Given the description of an element on the screen output the (x, y) to click on. 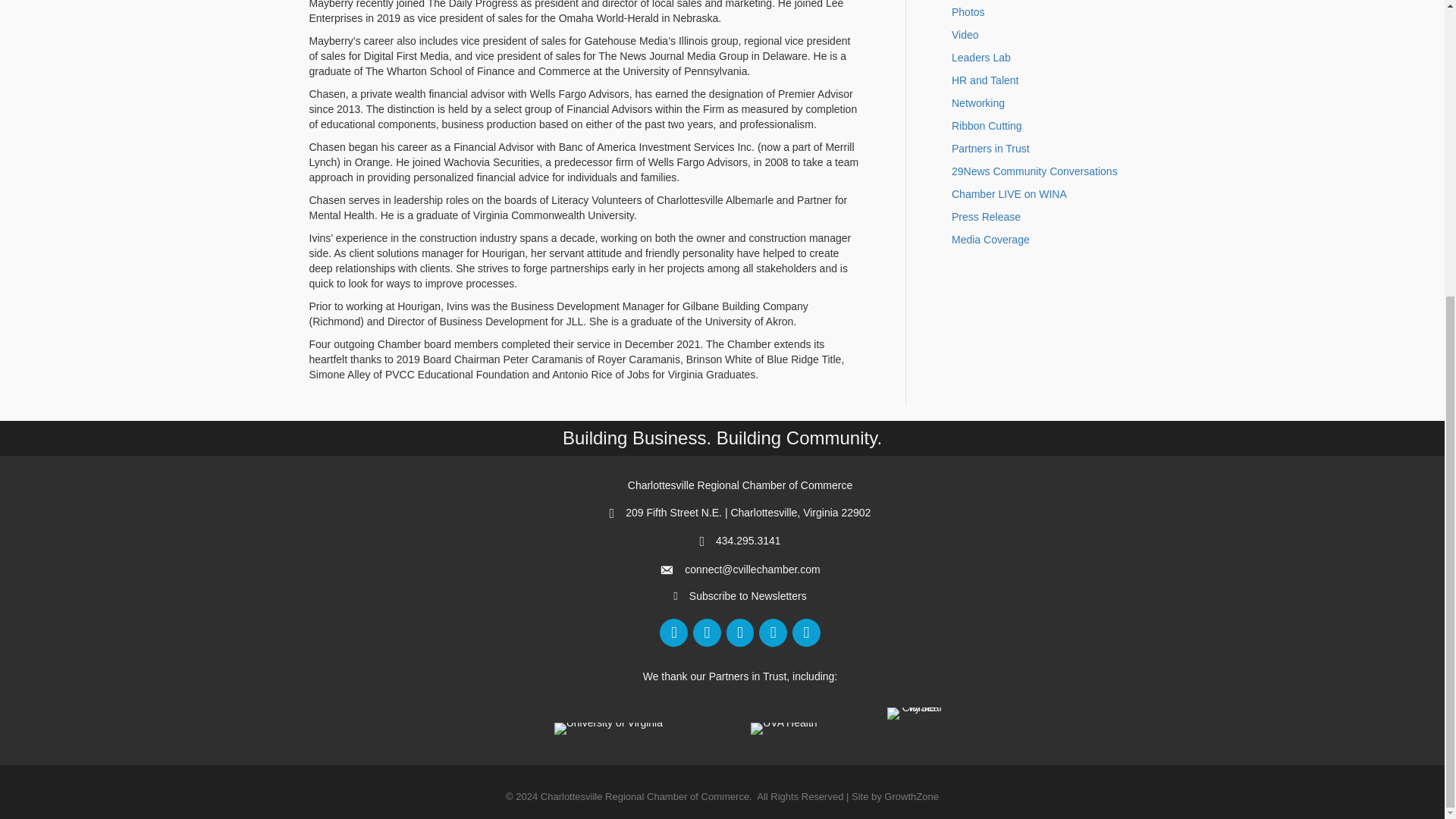
UVA Health (783, 728)
University of Virginia (608, 728)
CitySealWhite (915, 713)
